Given the description of an element on the screen output the (x, y) to click on. 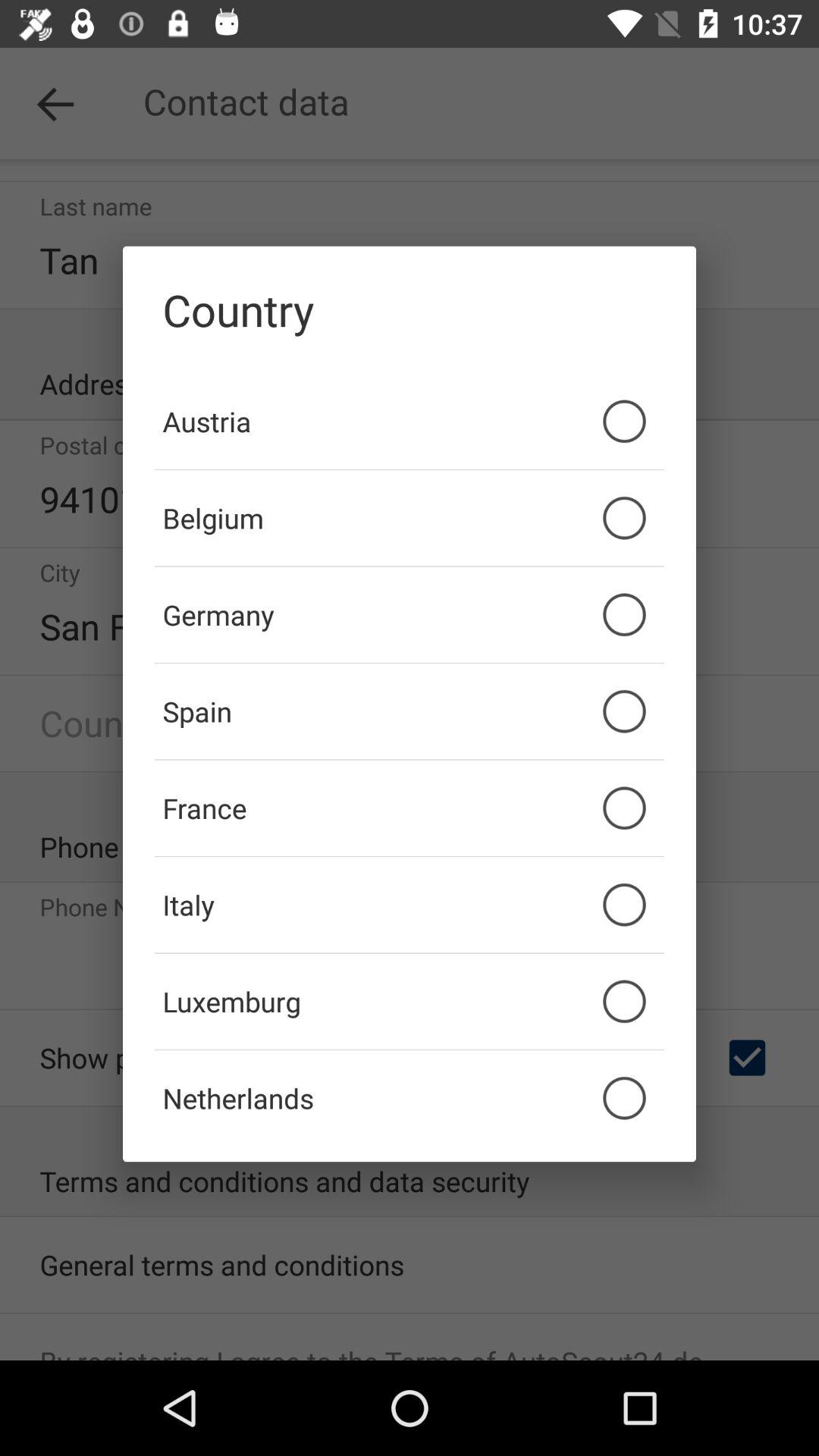
press austria icon (409, 421)
